Given the description of an element on the screen output the (x, y) to click on. 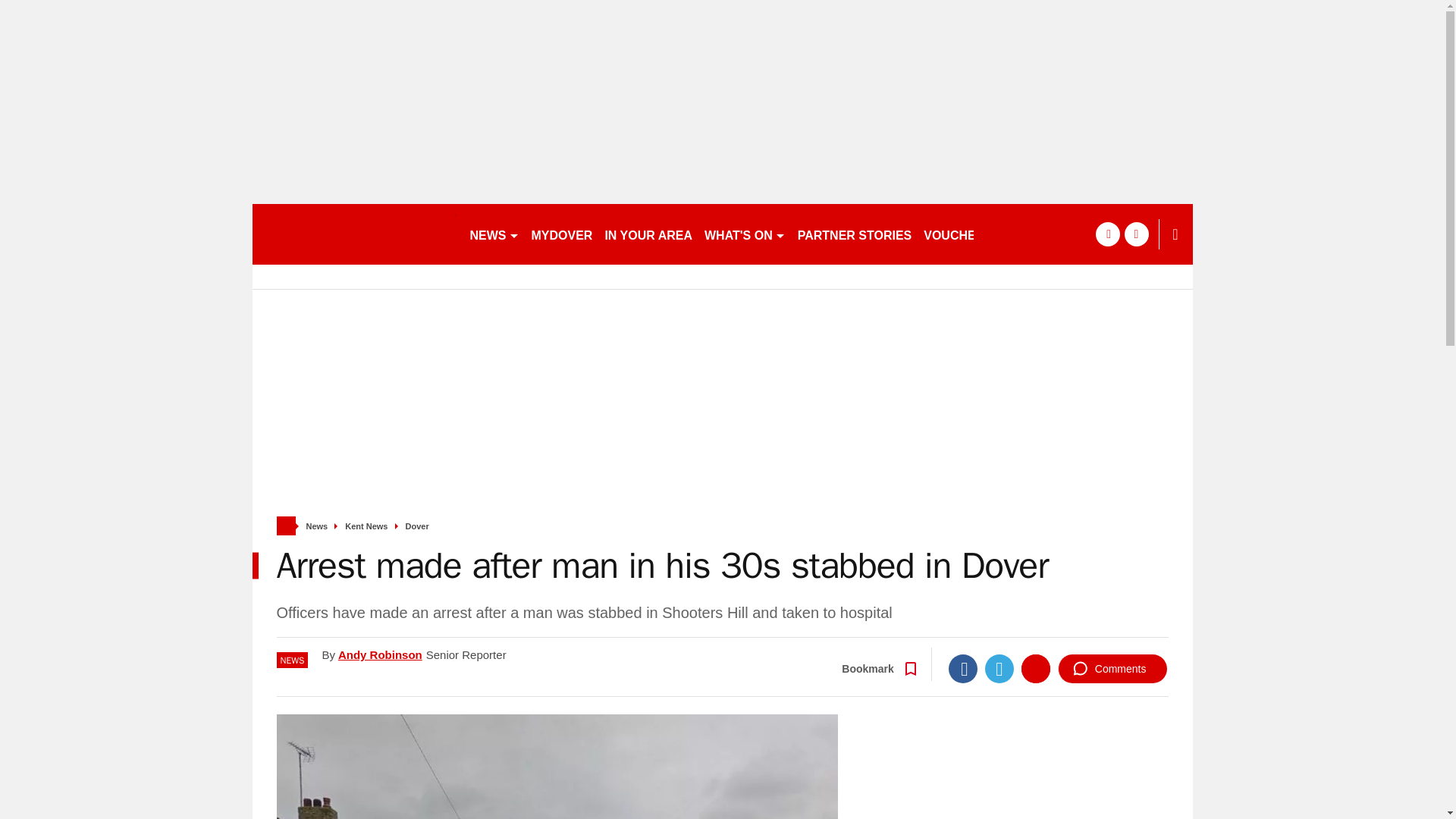
VOUCHER CODES (983, 233)
MYDOVER (561, 233)
Comments (1112, 668)
Twitter (999, 668)
Facebook (962, 668)
NEWS (494, 233)
kentlive (353, 233)
WHAT'S ON (745, 233)
facebook (1106, 233)
PARTNER STORIES (855, 233)
